Given the description of an element on the screen output the (x, y) to click on. 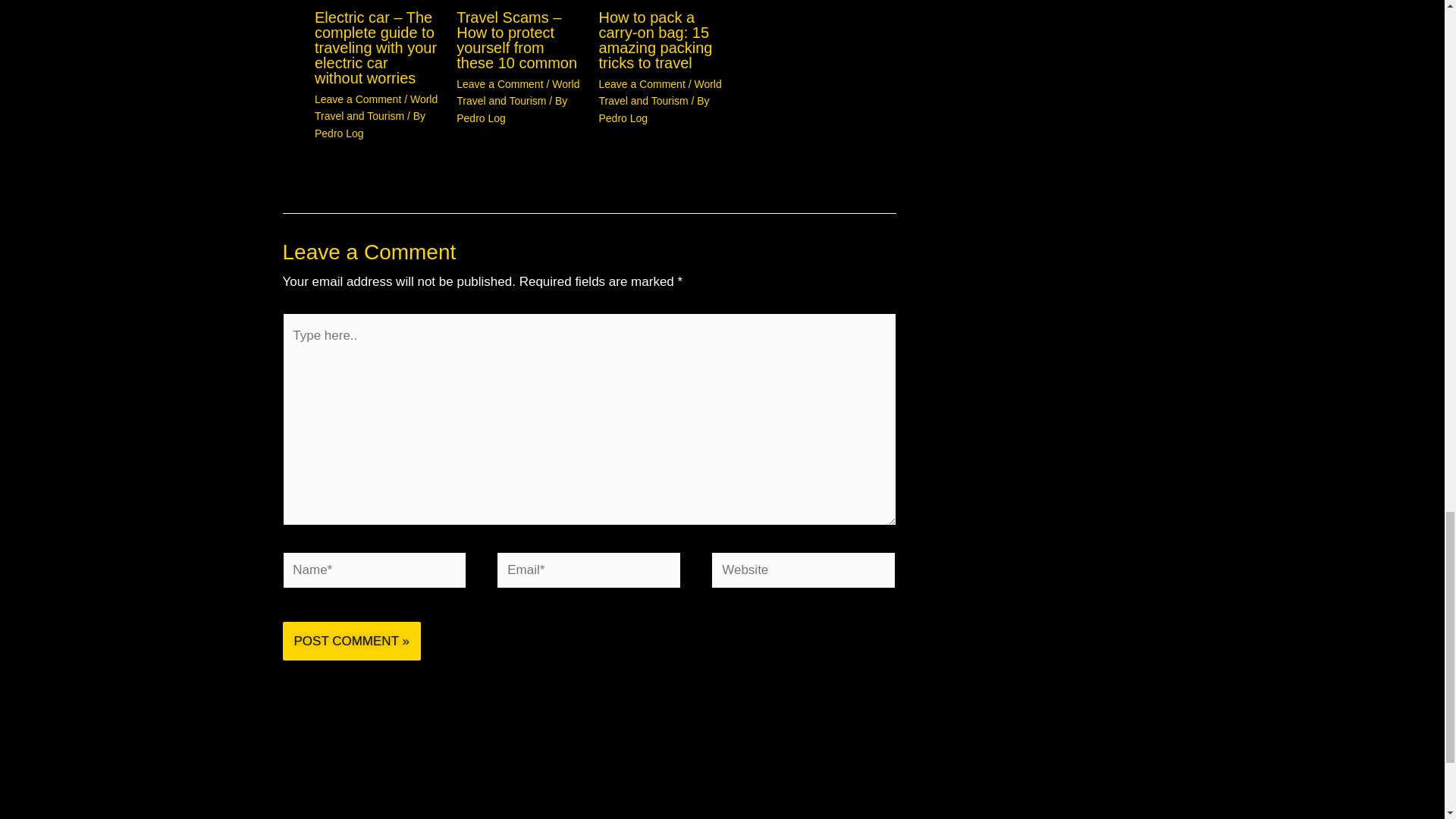
View all posts by Pedro Log (339, 133)
World Travel and Tourism (518, 92)
View all posts by Pedro Log (481, 118)
World Travel and Tourism (376, 107)
Pedro Log (339, 133)
Leave a Comment (500, 83)
Pedro Log (622, 118)
Leave a Comment (641, 83)
Leave a Comment (357, 99)
